Given the description of an element on the screen output the (x, y) to click on. 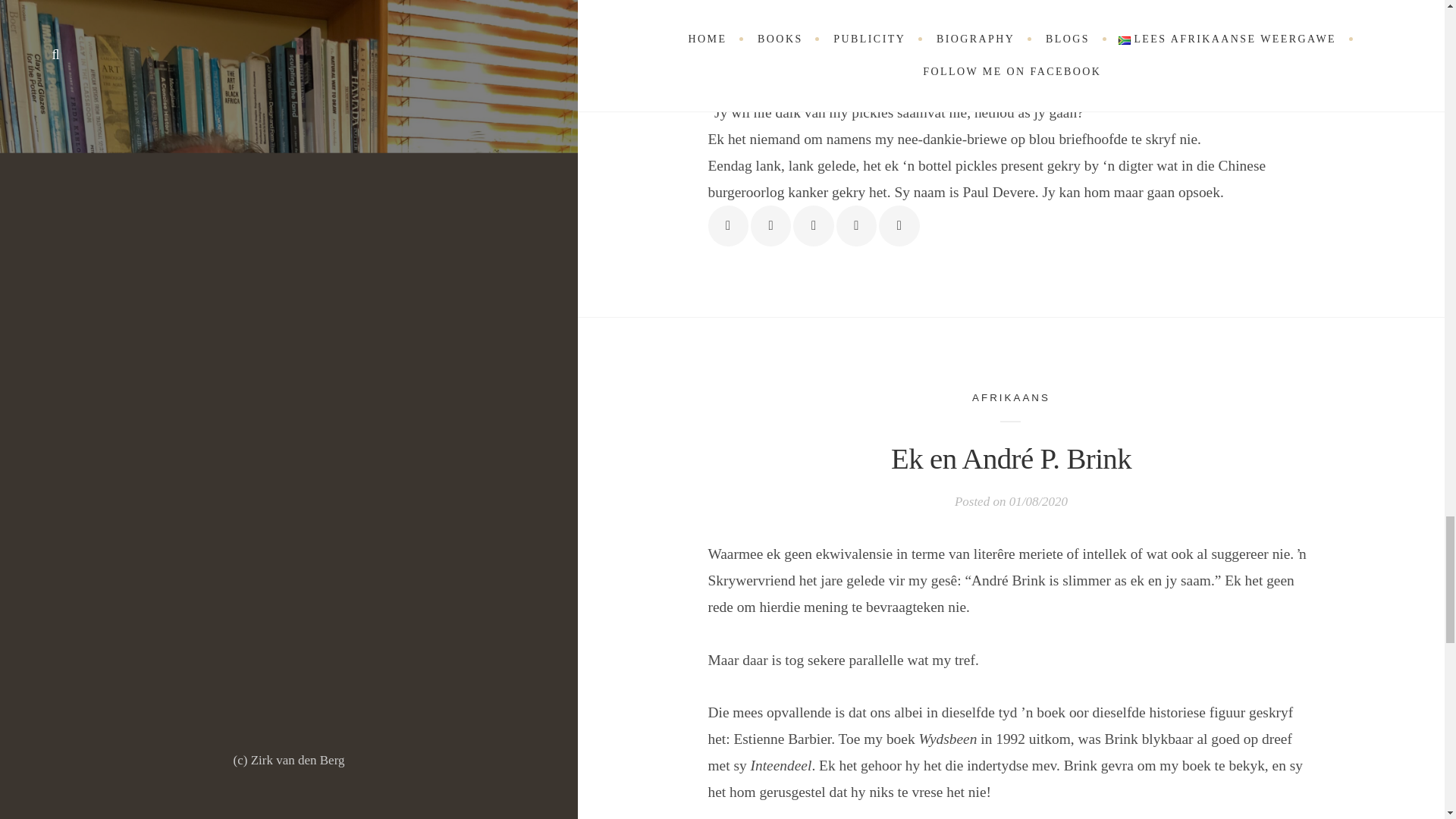
Share on Google Plus (812, 225)
Pin It (855, 225)
Tweet It (770, 225)
Share on Facebook (727, 225)
Share on Tumblr (898, 225)
